Given the description of an element on the screen output the (x, y) to click on. 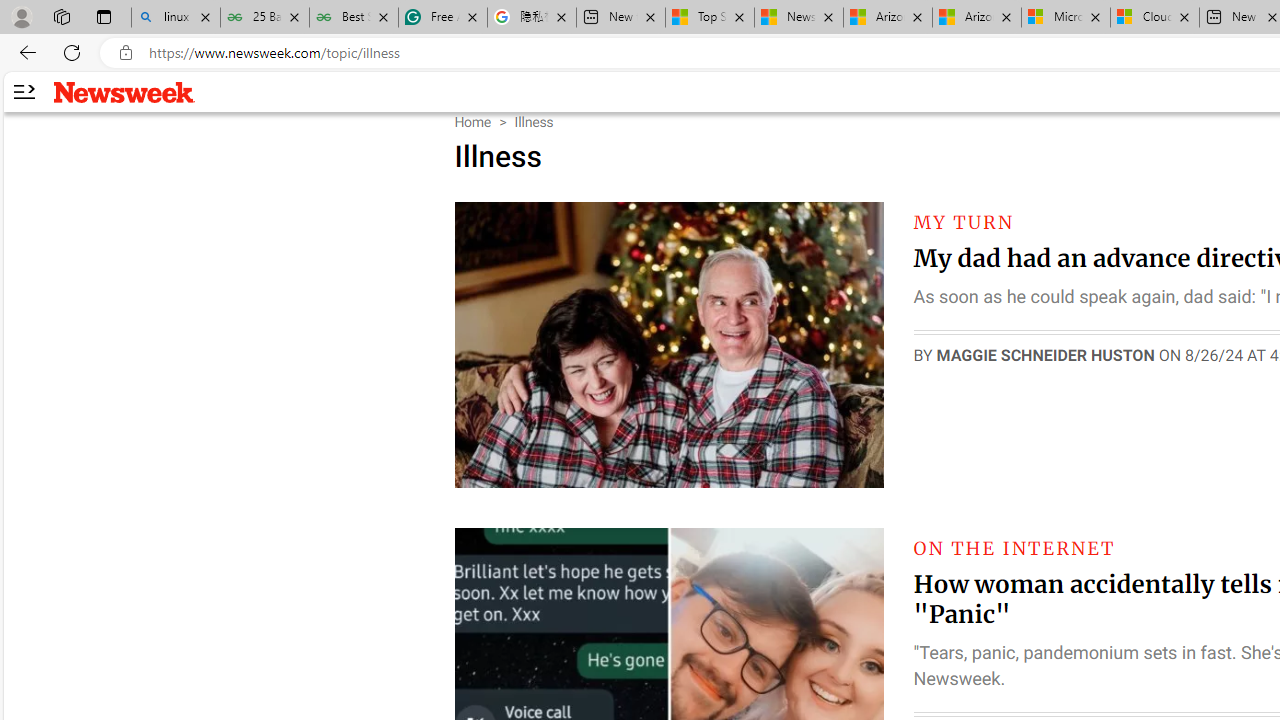
Newsweek logo (123, 91)
ON THE INTERNET (1014, 548)
Best SSL Certificates Provider in India - GeeksforGeeks (353, 17)
Home (472, 121)
News - MSN (799, 17)
Cloud Computing Services | Microsoft Azure (1155, 17)
Free AI Writing Assistance for Students | Grammarly (443, 17)
MY TURN (963, 222)
Top Stories - MSN (709, 17)
